Given the description of an element on the screen output the (x, y) to click on. 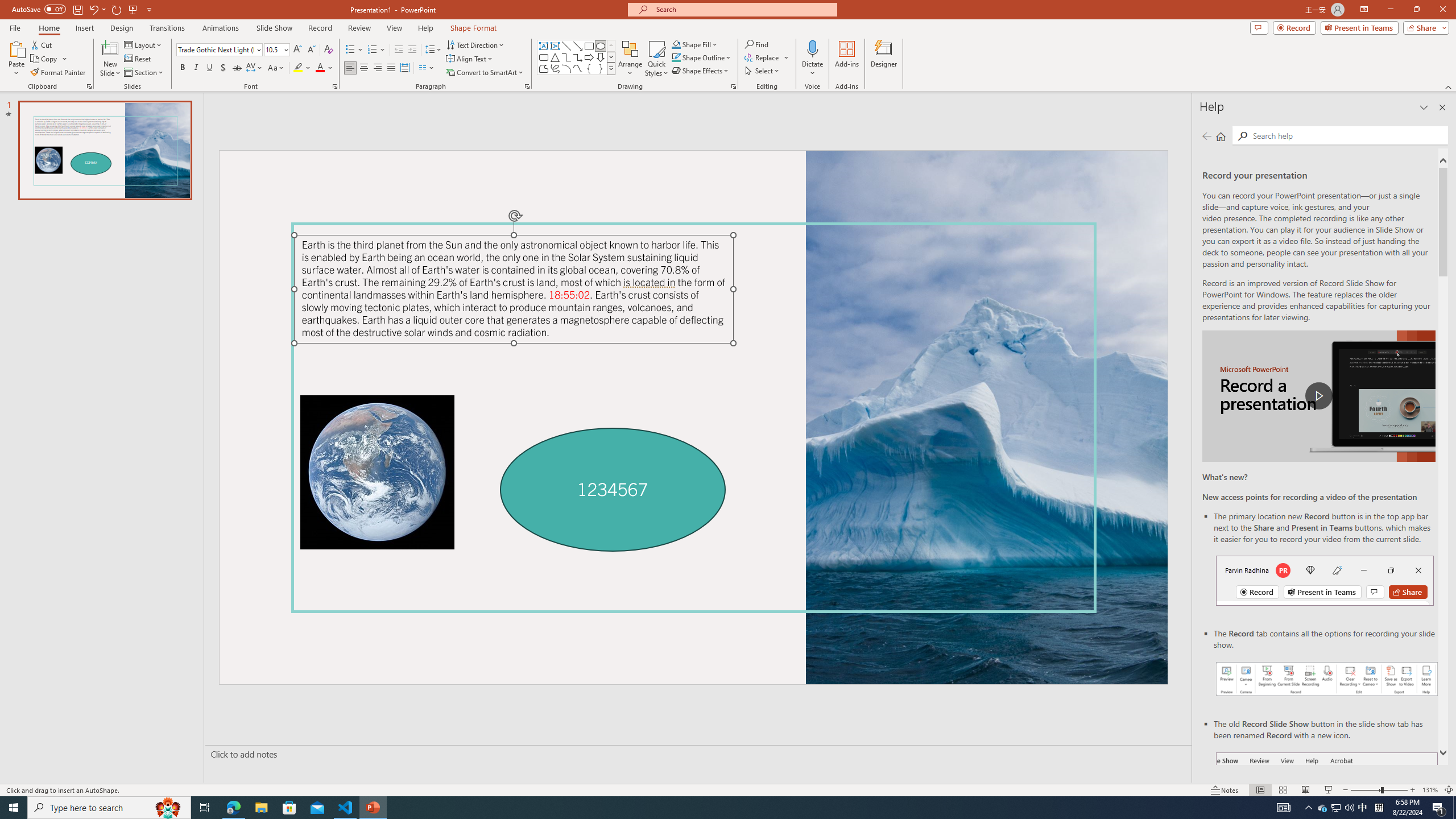
Shape Outline Teal, Accent 1 (675, 56)
